Given the description of an element on the screen output the (x, y) to click on. 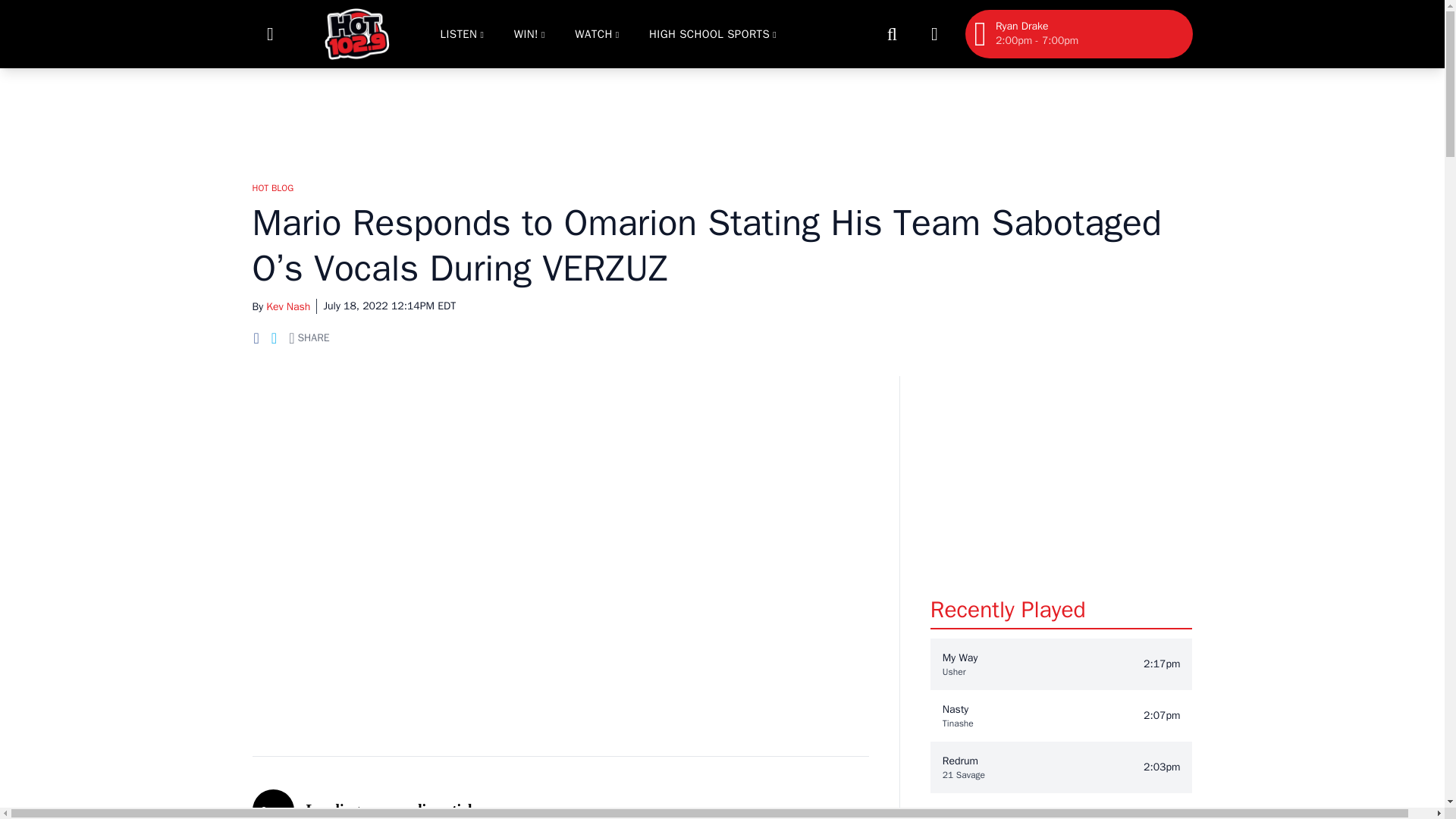
3rd party ad content (1060, 470)
3rd party ad content (721, 117)
